Given the description of an element on the screen output the (x, y) to click on. 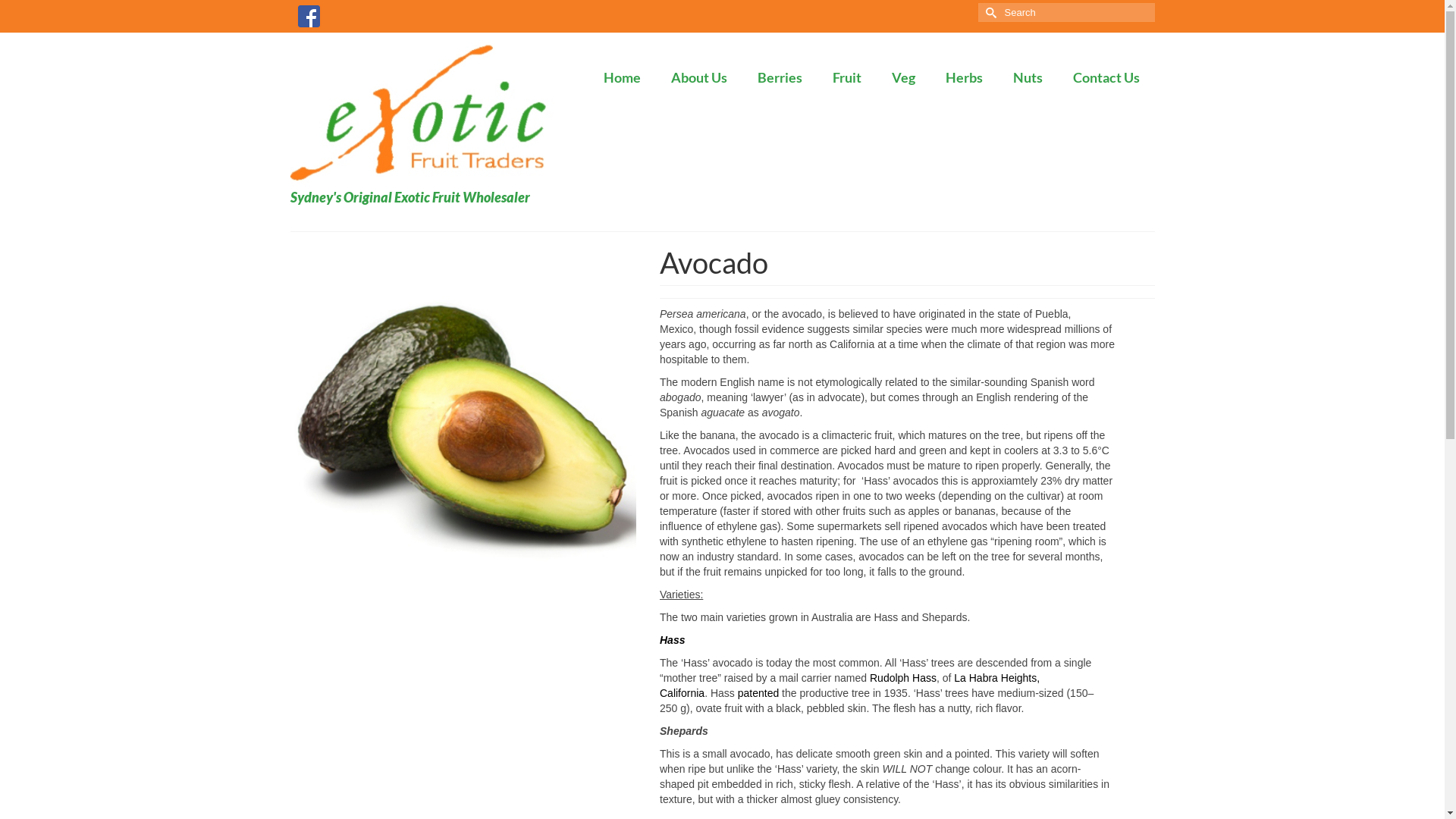
Rudolph Hass Element type: text (902, 677)
Herbs Element type: text (963, 76)
Home Element type: text (621, 76)
Hass Element type: text (671, 639)
Berries Element type: text (778, 76)
Fruit Element type: text (846, 76)
ganze und halbe avocado isoliert auf weiss Element type: hover (463, 420)
About Us Element type: text (698, 76)
La Habra Heights, California Element type: text (849, 685)
Veg Element type: text (903, 76)
ganze und halbe avocado isoliert auf weiss Element type: hover (463, 419)
Contact Us Element type: text (1105, 76)
Nuts Element type: text (1027, 76)
patented Element type: text (758, 693)
